Given the description of an element on the screen output the (x, y) to click on. 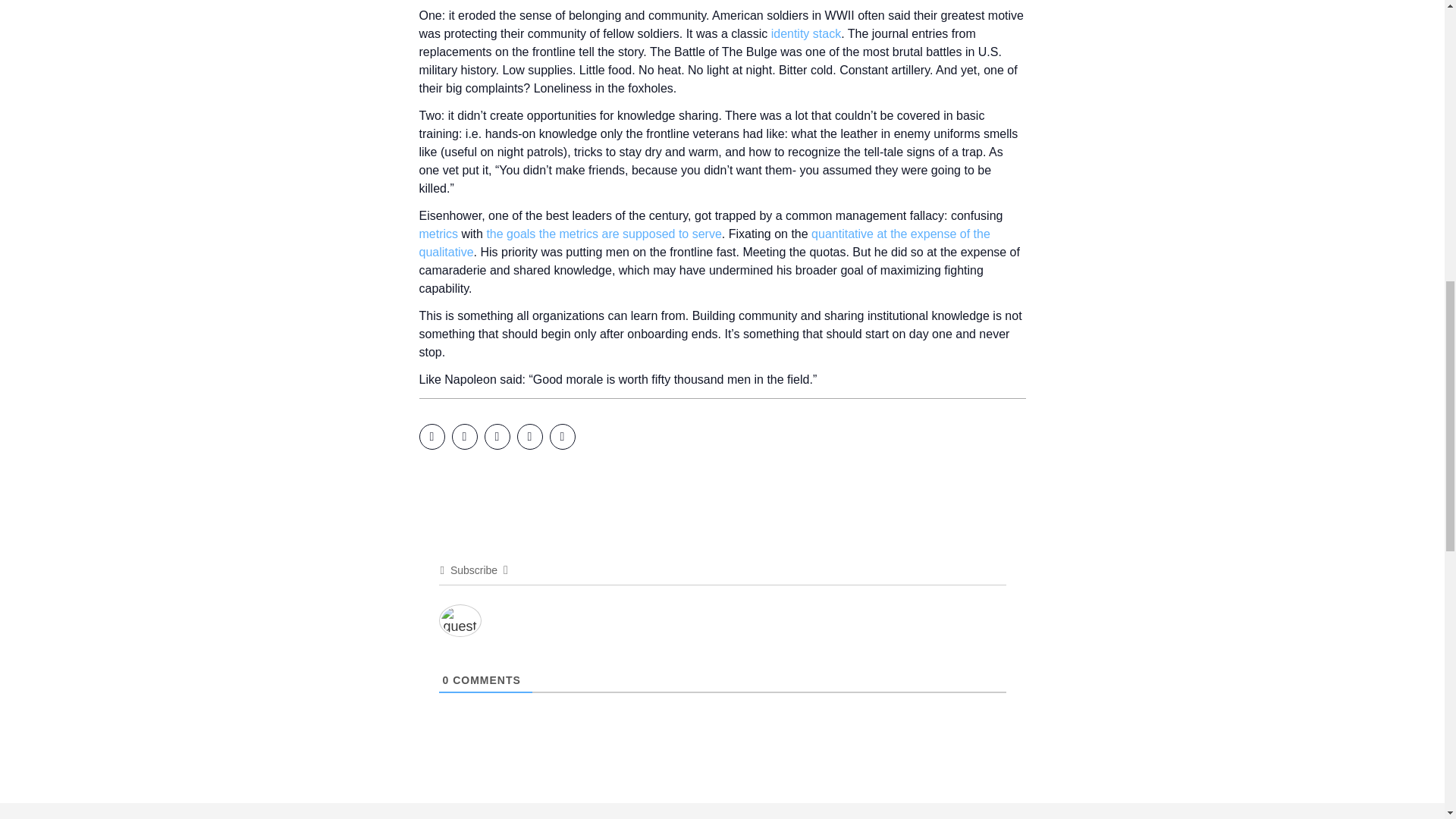
Tweet this ! (464, 436)
quantitative at the expense of the qualitative (704, 242)
metrics (438, 233)
identity stack (806, 33)
Email this  (561, 436)
Share this on Facebook (431, 436)
the goals the metrics are supposed to serve (603, 233)
Add this to LinkedIn (496, 436)
Submit this to Pinterest (529, 436)
